Given the description of an element on the screen output the (x, y) to click on. 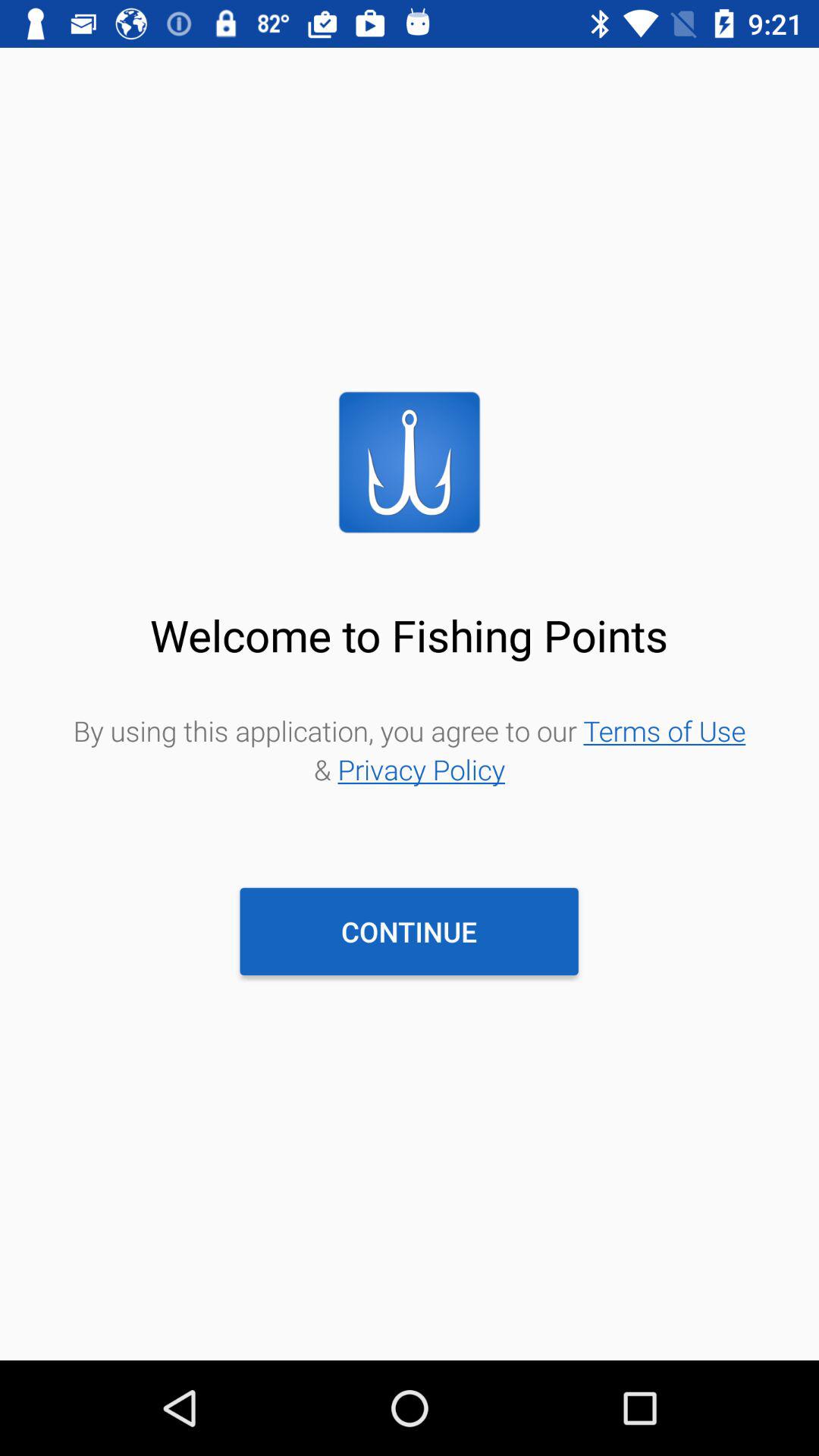
scroll to the continue item (409, 931)
